Given the description of an element on the screen output the (x, y) to click on. 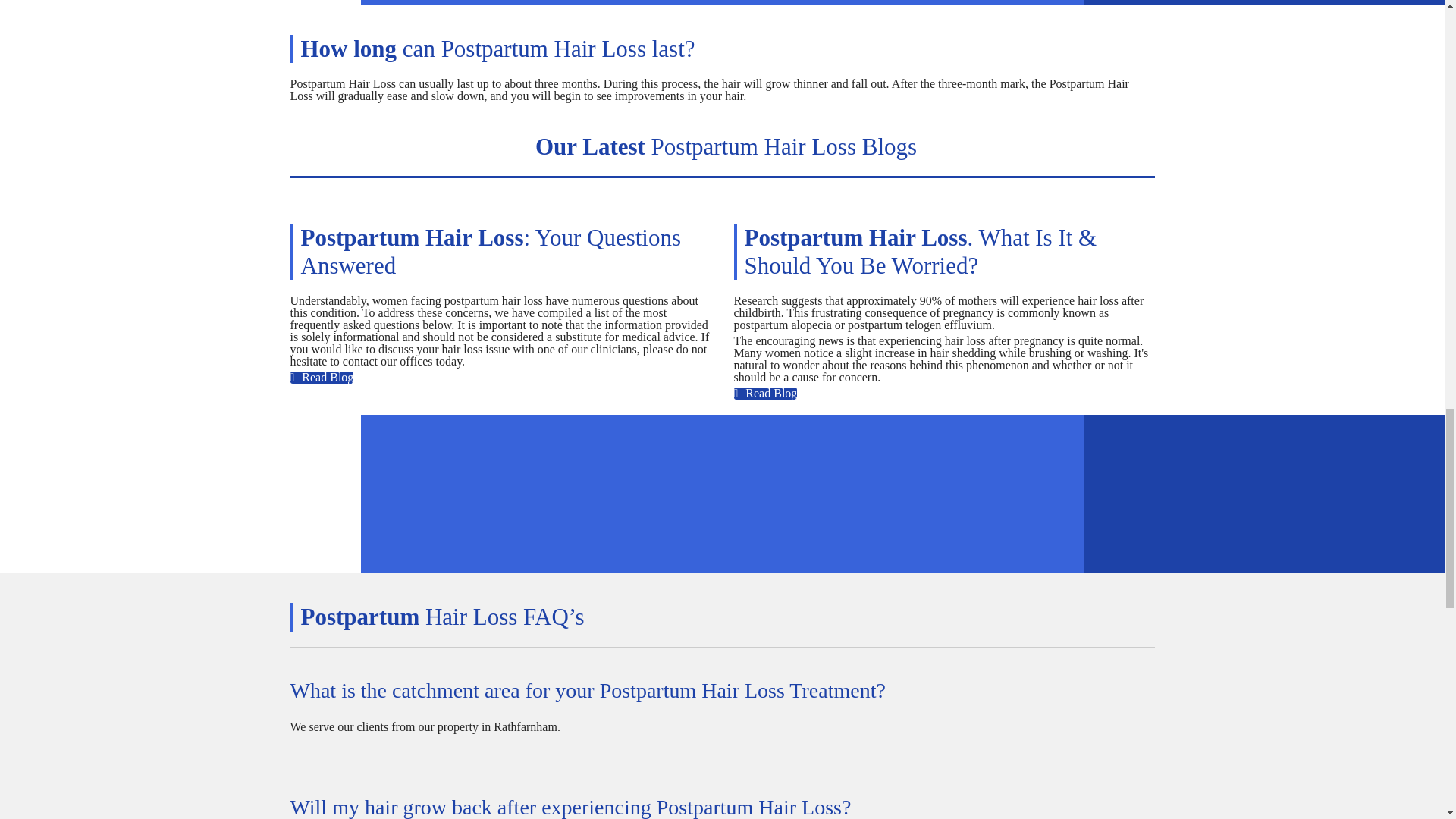
Read Blog (321, 377)
Read Blog (765, 393)
